Given the description of an element on the screen output the (x, y) to click on. 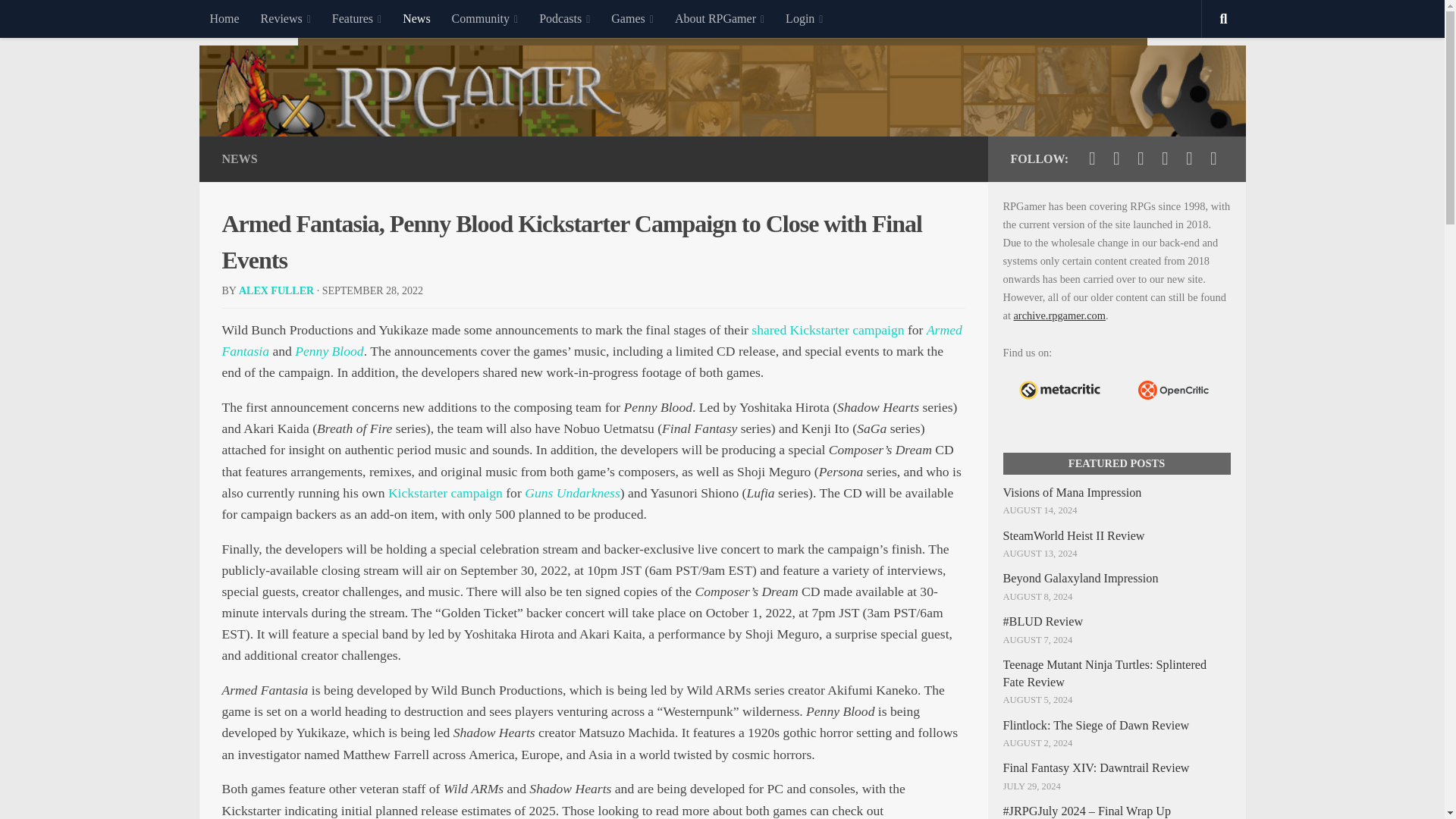
Skip to content (59, 20)
Follow us on Discord (1188, 158)
Follow us on Facebook (1115, 158)
Posts by Alex Fuller (276, 290)
Follow us on Twitter (1091, 158)
Follow us on Twitch (1164, 158)
Follow us on Youtube (1140, 158)
